Given the description of an element on the screen output the (x, y) to click on. 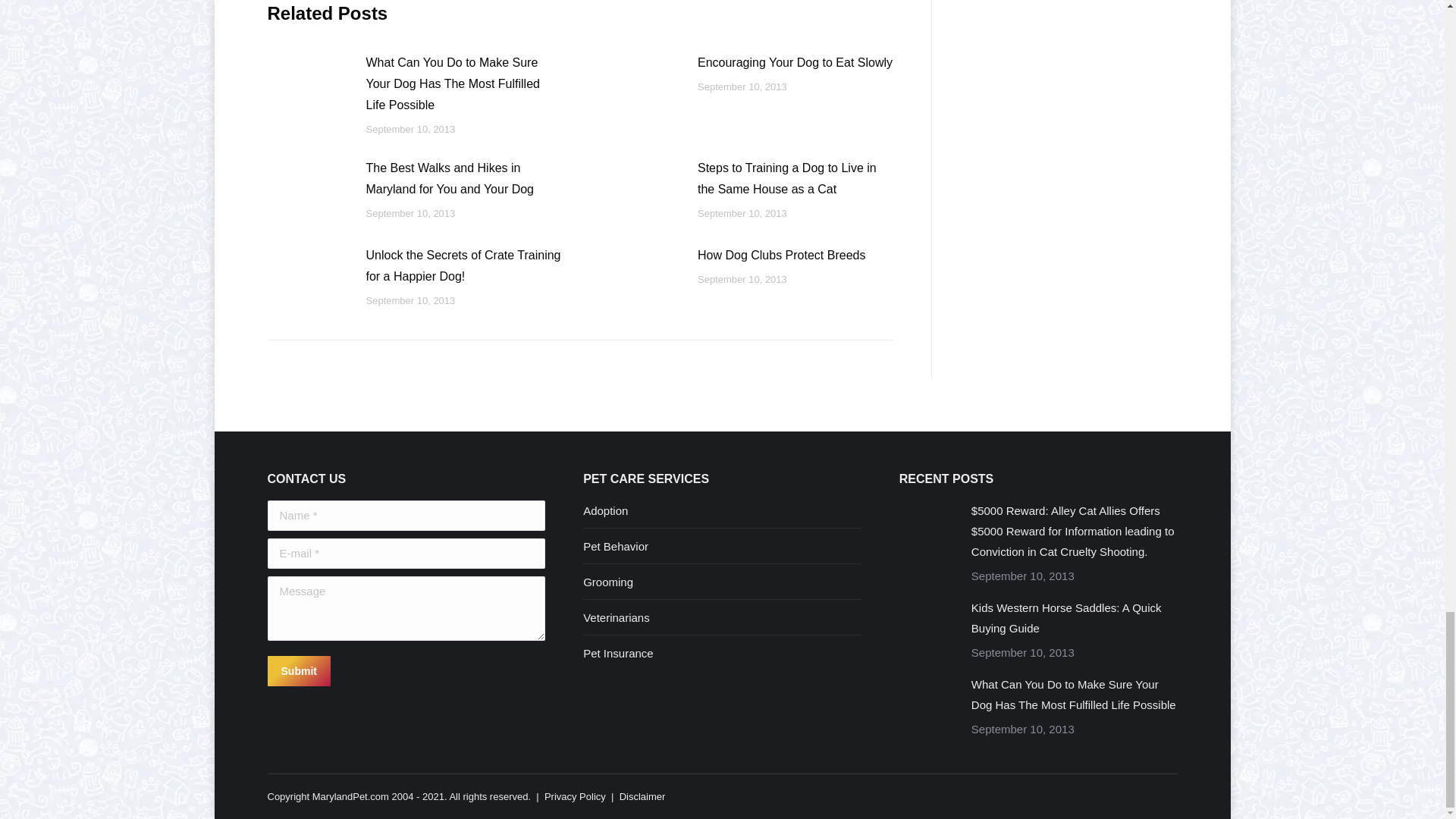
submit (370, 672)
